Given the description of an element on the screen output the (x, y) to click on. 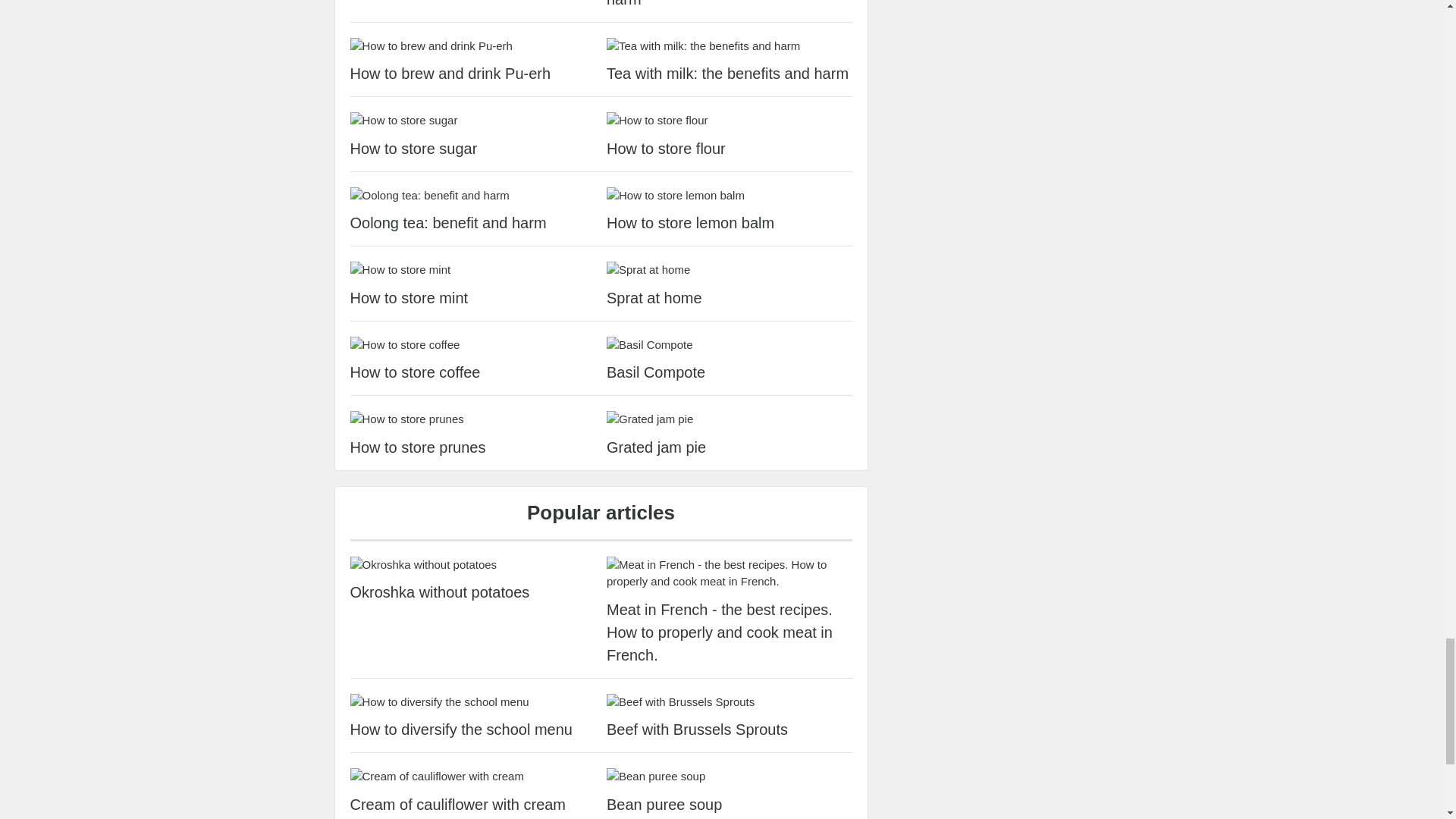
How to store lemon balm (729, 222)
How to store sugar (472, 120)
Sprat at home (729, 297)
Okroshka without potatoes (472, 591)
How to store flour (729, 120)
Oolong tea: benefit and harm (472, 195)
How to store sugar (472, 148)
Grated jam pie (729, 419)
Tea with milk: the benefits and harm (729, 46)
Grated jam pie (729, 446)
How to diversify the school menu (472, 729)
How to store flour (729, 148)
Tea with milk: the benefits and harm (729, 73)
How to store coffee (472, 344)
